Given the description of an element on the screen output the (x, y) to click on. 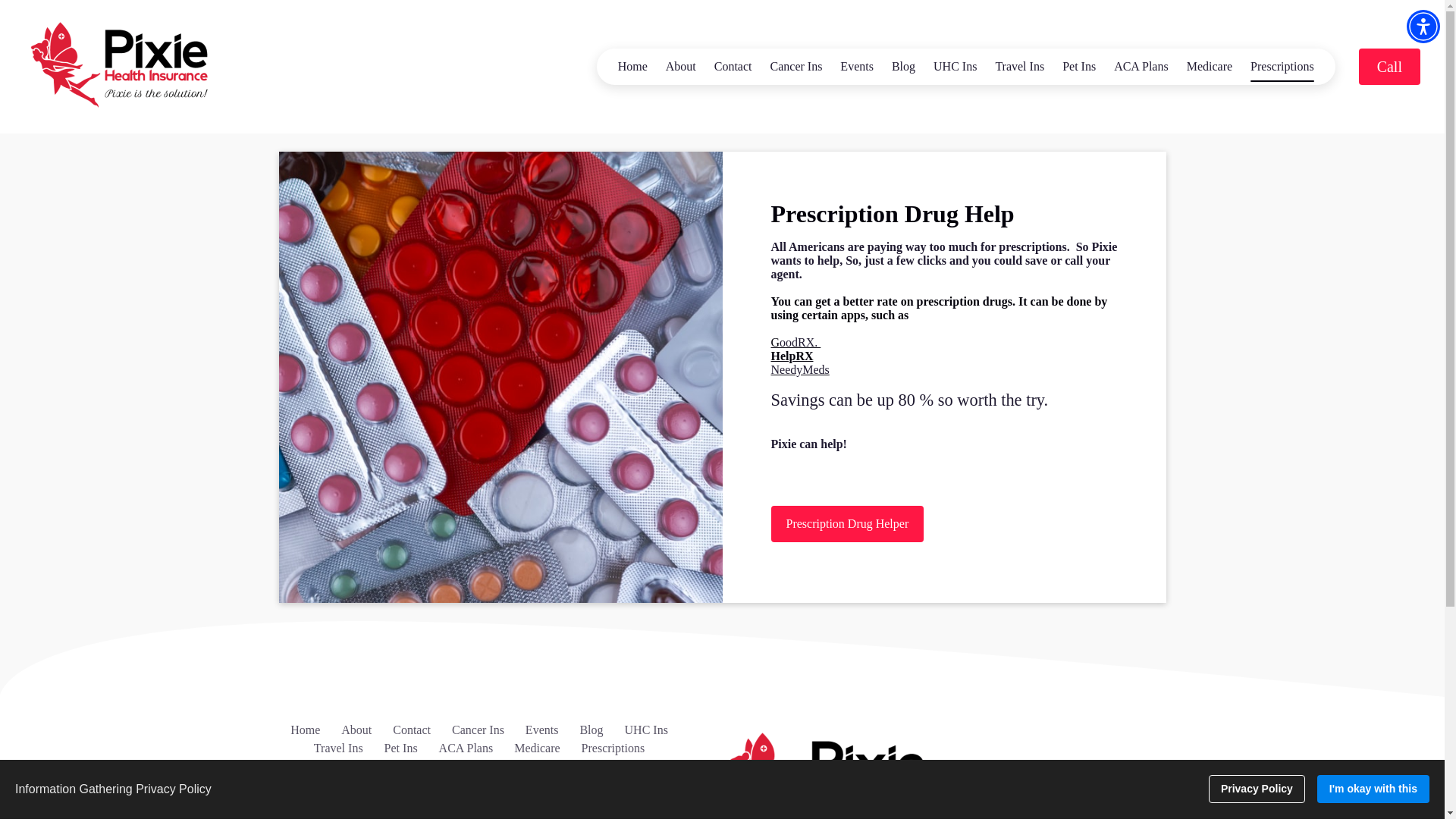
ACA Plans (1141, 66)
NeedyMeds (799, 376)
Contact (732, 66)
Call (1389, 66)
Blog (590, 729)
Home (304, 729)
Medicare (1209, 66)
Events (856, 66)
Pet Ins (1078, 66)
UHC Ins (954, 66)
Cancer Ins (796, 66)
Prescriptions (1282, 66)
Prescription Drug Helper (846, 524)
About (680, 66)
Medicare (536, 748)
